Given the description of an element on the screen output the (x, y) to click on. 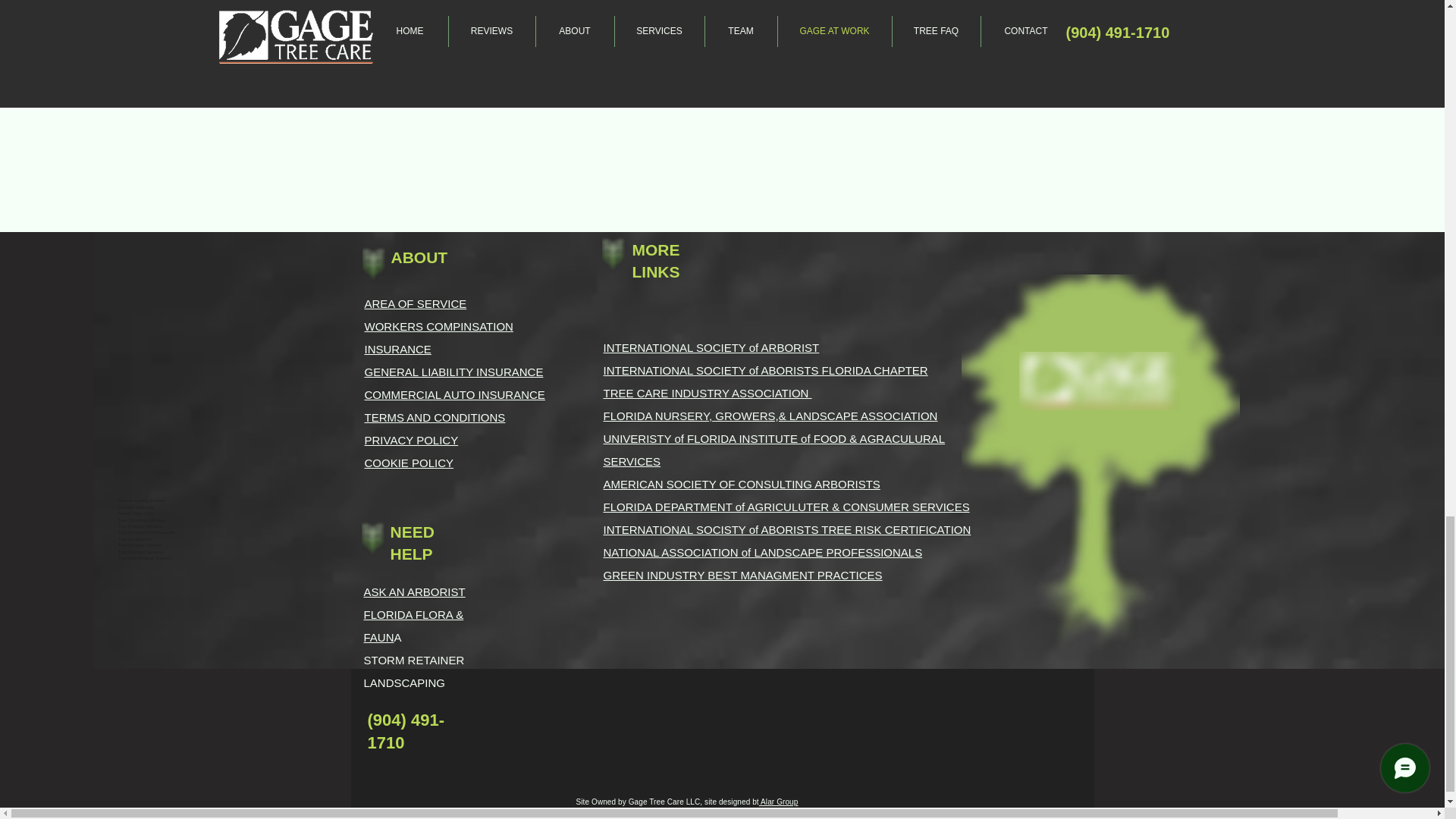
TERMS AND CONDITIONS (434, 417)
PRIVACY POLICY (411, 440)
ASK AN ARBORIST (414, 591)
COOKIE POLICY (408, 462)
GREEN INDUSTRY BEST MANAGMENT PRACTICES (743, 574)
AREA OF SERVICE (414, 303)
INTERNATIONAL SOCISTY of ABORISTS TREE RISK CERTIFICATION (787, 529)
AMERICAN SOCIETY OF CONSULTING ARBORISTS (742, 483)
INTERNATIONAL SOCIETY of ARBORIST (711, 347)
NATIONAL ASSOCIATION of LANDSCAPE PROFESSIONALS (763, 552)
TREE CARE INDUSTRY ASSOCIATION  (708, 392)
INTERNATIONAL SOCIETY of ABORISTS FLORIDA CHAPTER (766, 369)
Alar Group (777, 801)
